Given the description of an element on the screen output the (x, y) to click on. 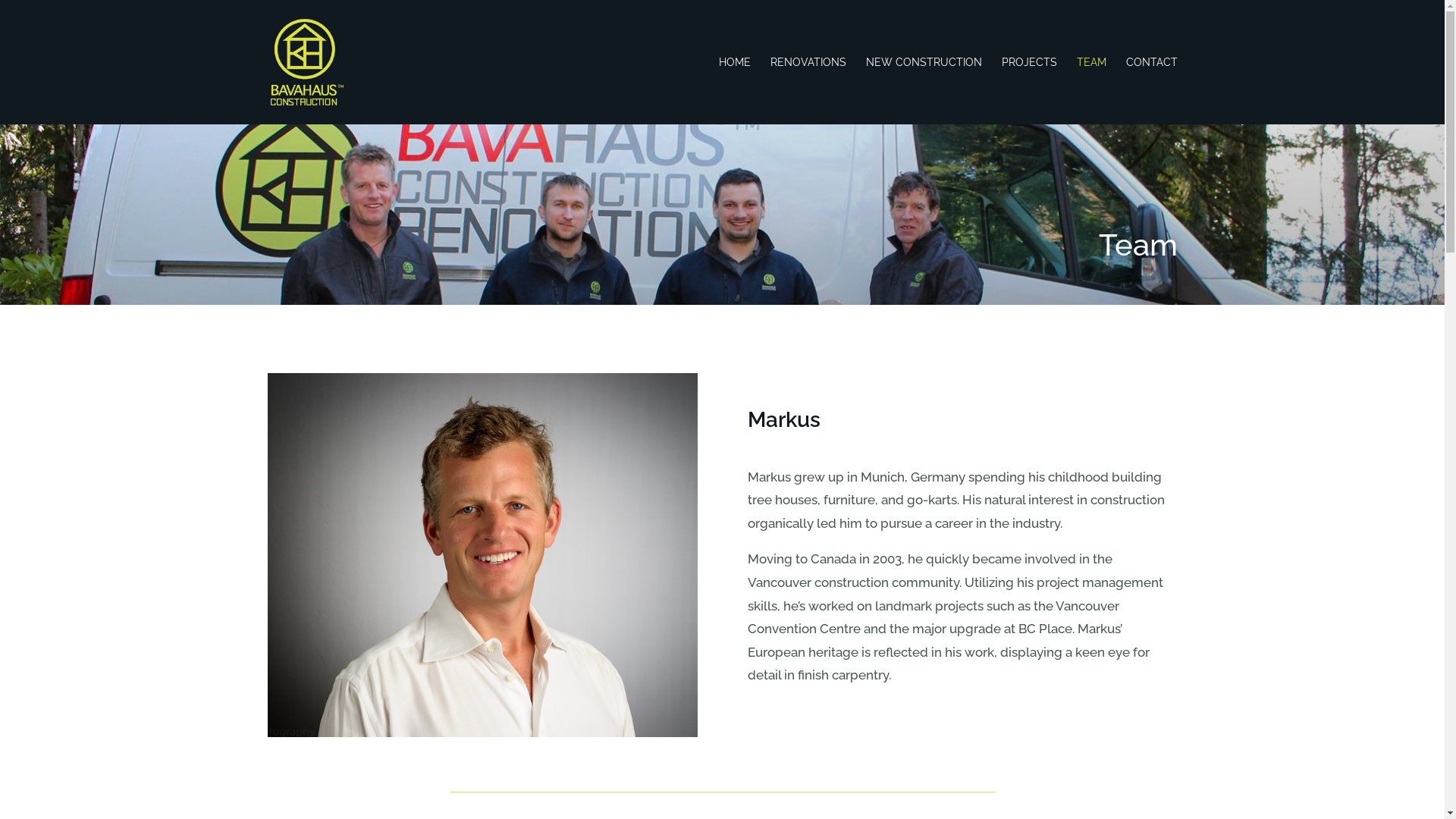
TEAM Element type: text (1091, 90)
HOME Element type: text (734, 90)
RENOVATIONS Element type: text (808, 90)
NEW CONSTRUCTION Element type: text (924, 90)
CONTACT Element type: text (1150, 90)
PROJECTS Element type: text (1028, 90)
